Given the description of an element on the screen output the (x, y) to click on. 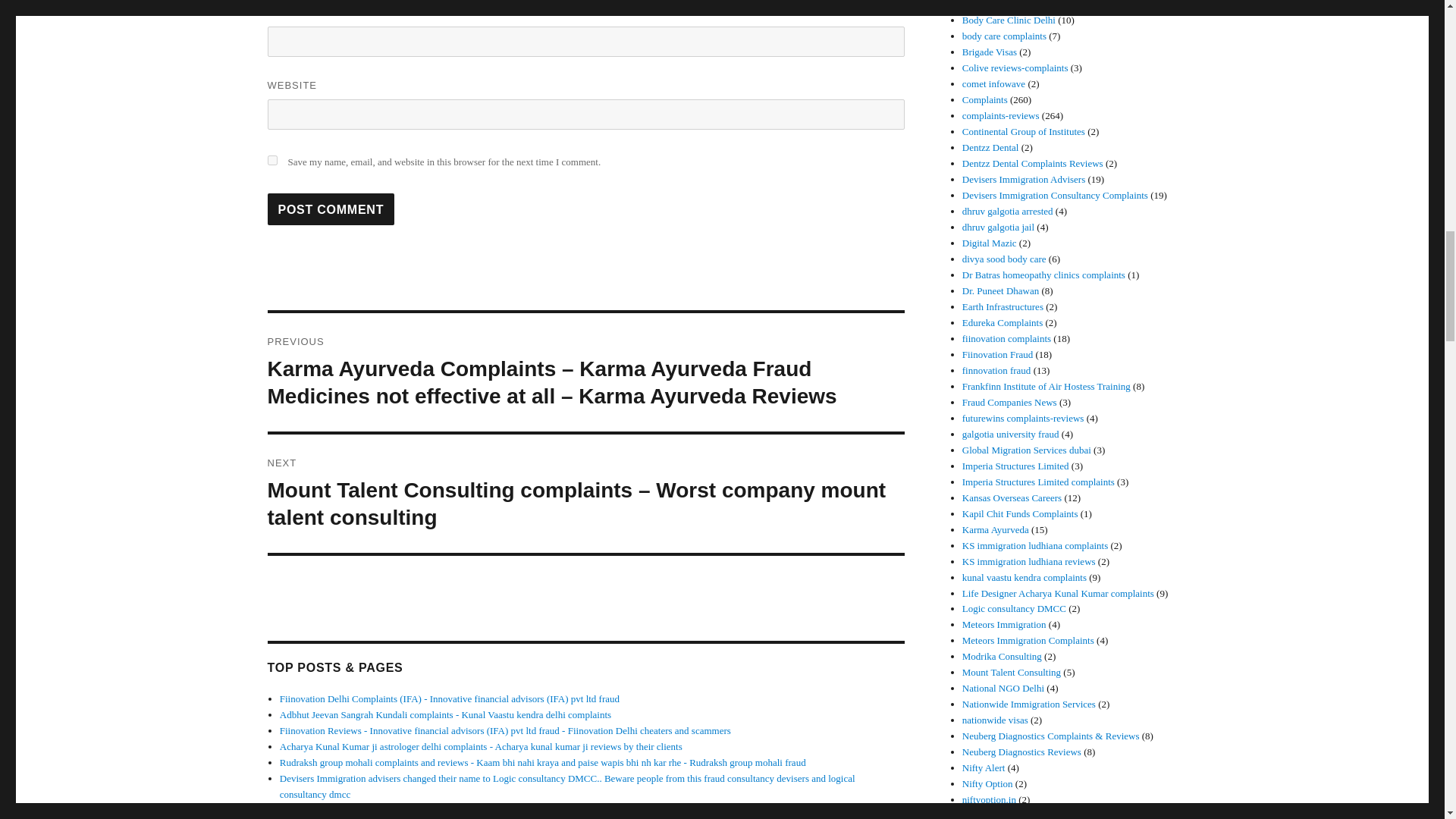
yes (271, 160)
Post Comment (330, 209)
